Given the description of an element on the screen output the (x, y) to click on. 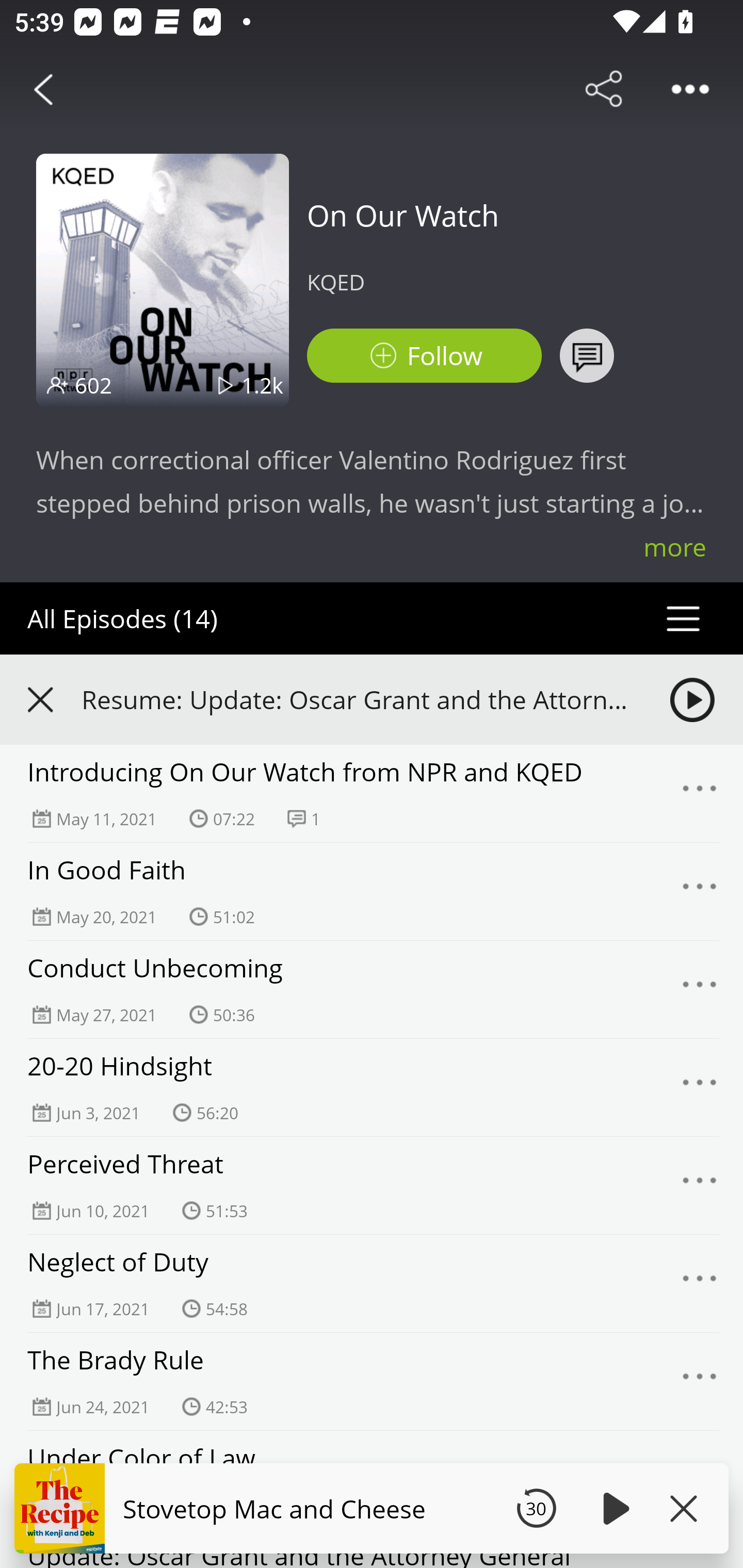
Back (43, 88)
Podbean Follow (423, 355)
602 (93, 384)
more (674, 546)
Menu (699, 794)
In Good Faith May 20, 2021 51:02 Menu (371, 891)
Menu (699, 891)
Conduct Unbecoming May 27, 2021 50:36 Menu (371, 989)
Menu (699, 990)
20-20 Hindsight Jun 3, 2021 56:20 Menu (371, 1087)
Menu (699, 1087)
Perceived Threat Jun 10, 2021 51:53 Menu (371, 1185)
Menu (699, 1186)
Neglect of Duty Jun 17, 2021 54:58 Menu (371, 1283)
Menu (699, 1283)
The Brady Rule Jun 24, 2021 42:53 Menu (371, 1381)
Menu (699, 1382)
Play (613, 1507)
30 Seek Backward (536, 1508)
